Given the description of an element on the screen output the (x, y) to click on. 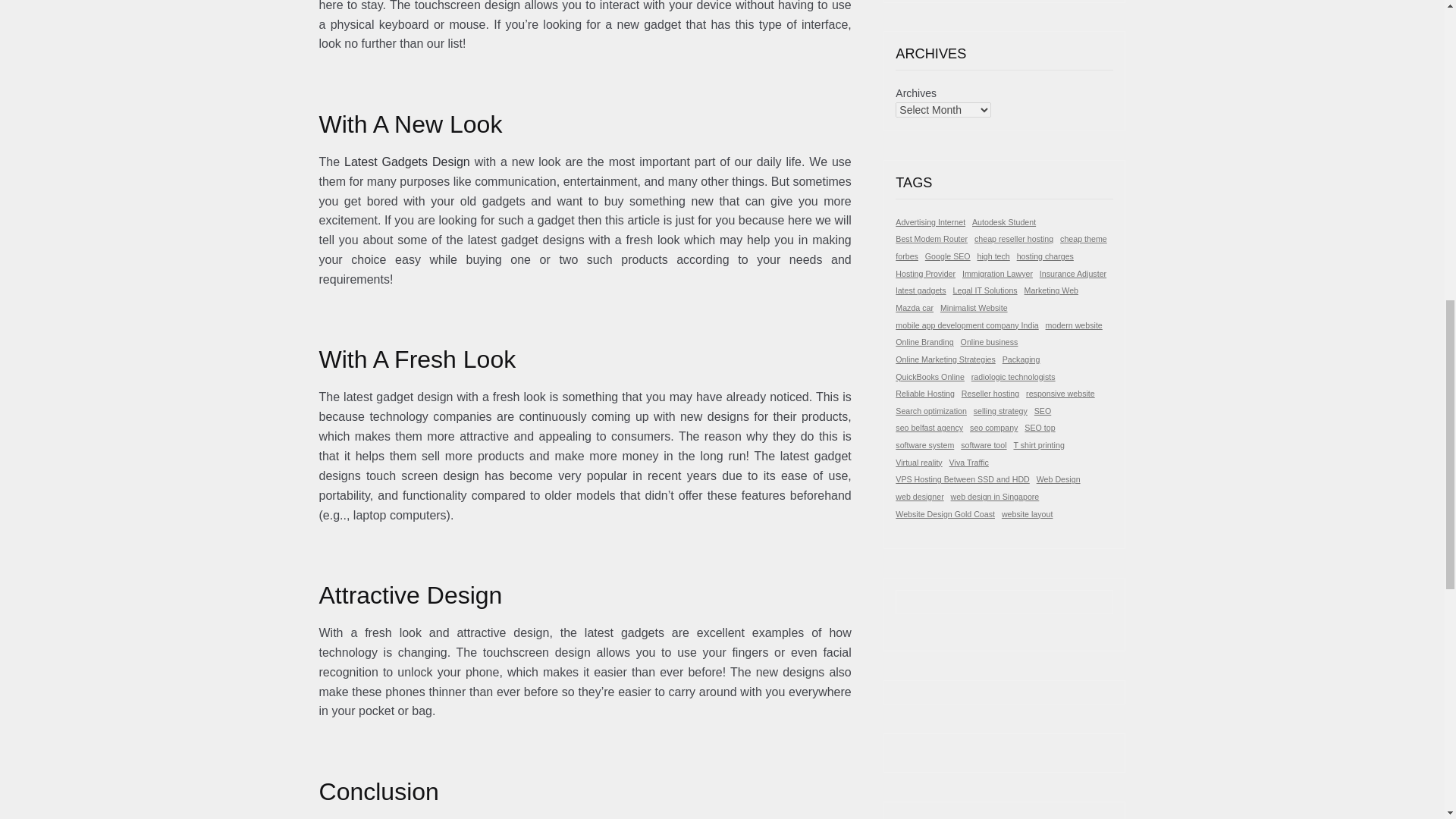
high tech (993, 256)
Best Modem Router (931, 238)
Autodesk Student (1003, 222)
Latest Gadgets Design (406, 161)
cheap reseller hosting (1013, 238)
Advertising Internet (930, 222)
forbes (906, 256)
cheap theme (1082, 238)
Google SEO (947, 256)
